Given the description of an element on the screen output the (x, y) to click on. 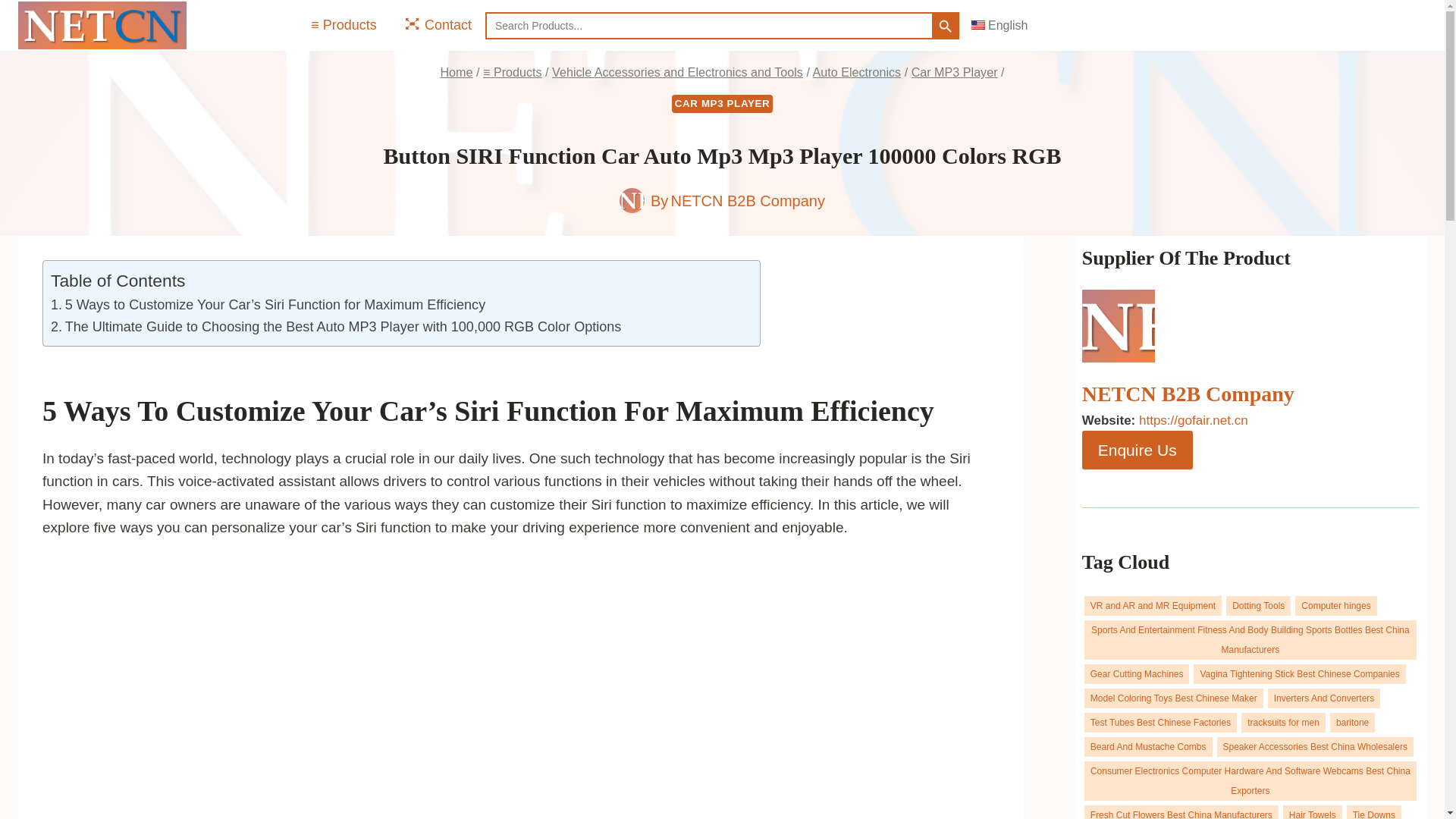
Car MP3 Player (954, 71)
CAR MP3 PLAYER (722, 104)
Auto Electronics (856, 71)
English (999, 25)
Home (455, 71)
Search Button (945, 25)
Vehicle Accessories and Electronics and Tools (677, 71)
NETCN B2B Company (748, 200)
Contact (437, 24)
